Given the description of an element on the screen output the (x, y) to click on. 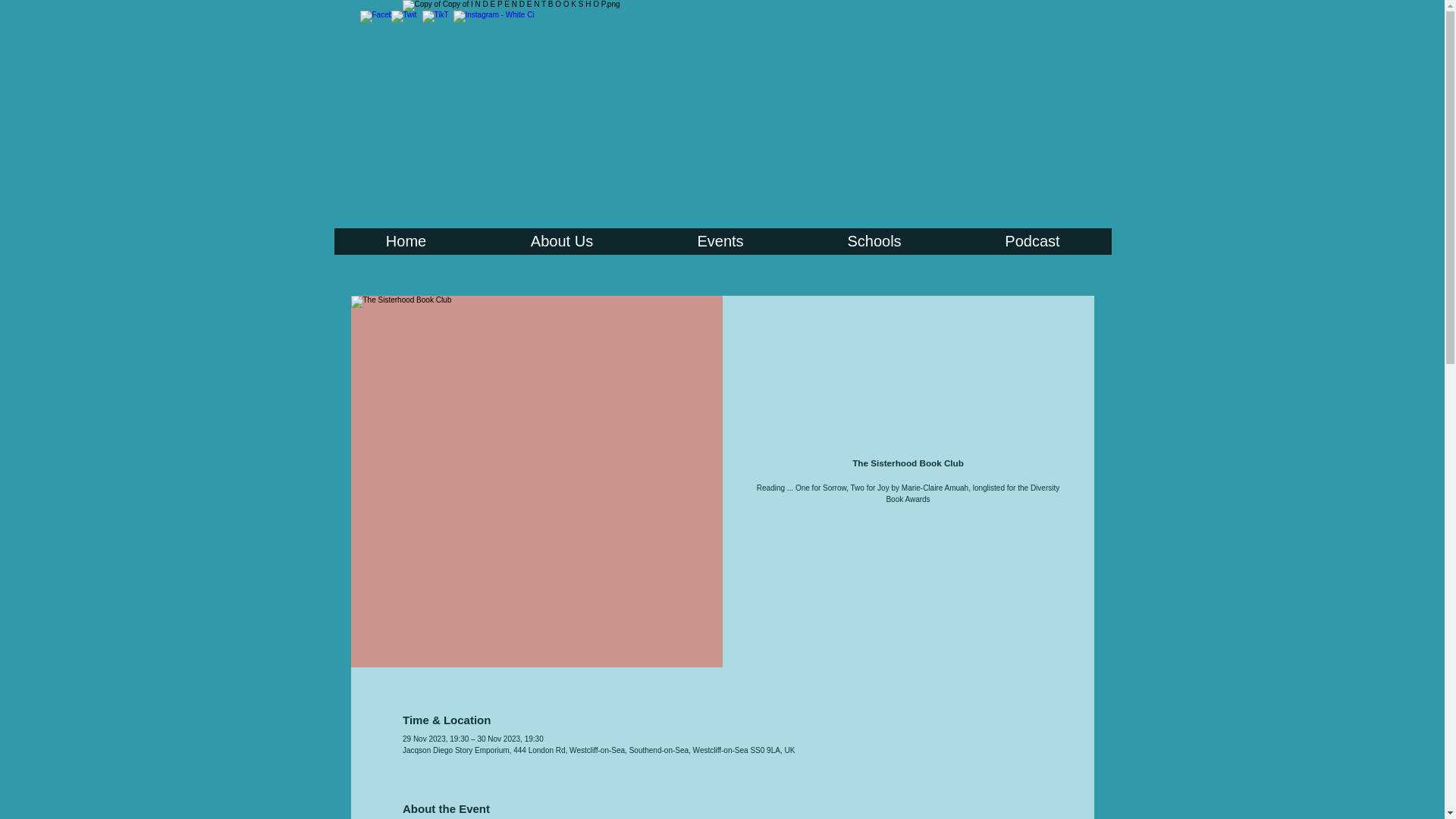
Podcast (1031, 241)
Home (405, 241)
About Us (561, 241)
Schools (873, 241)
